Given the description of an element on the screen output the (x, y) to click on. 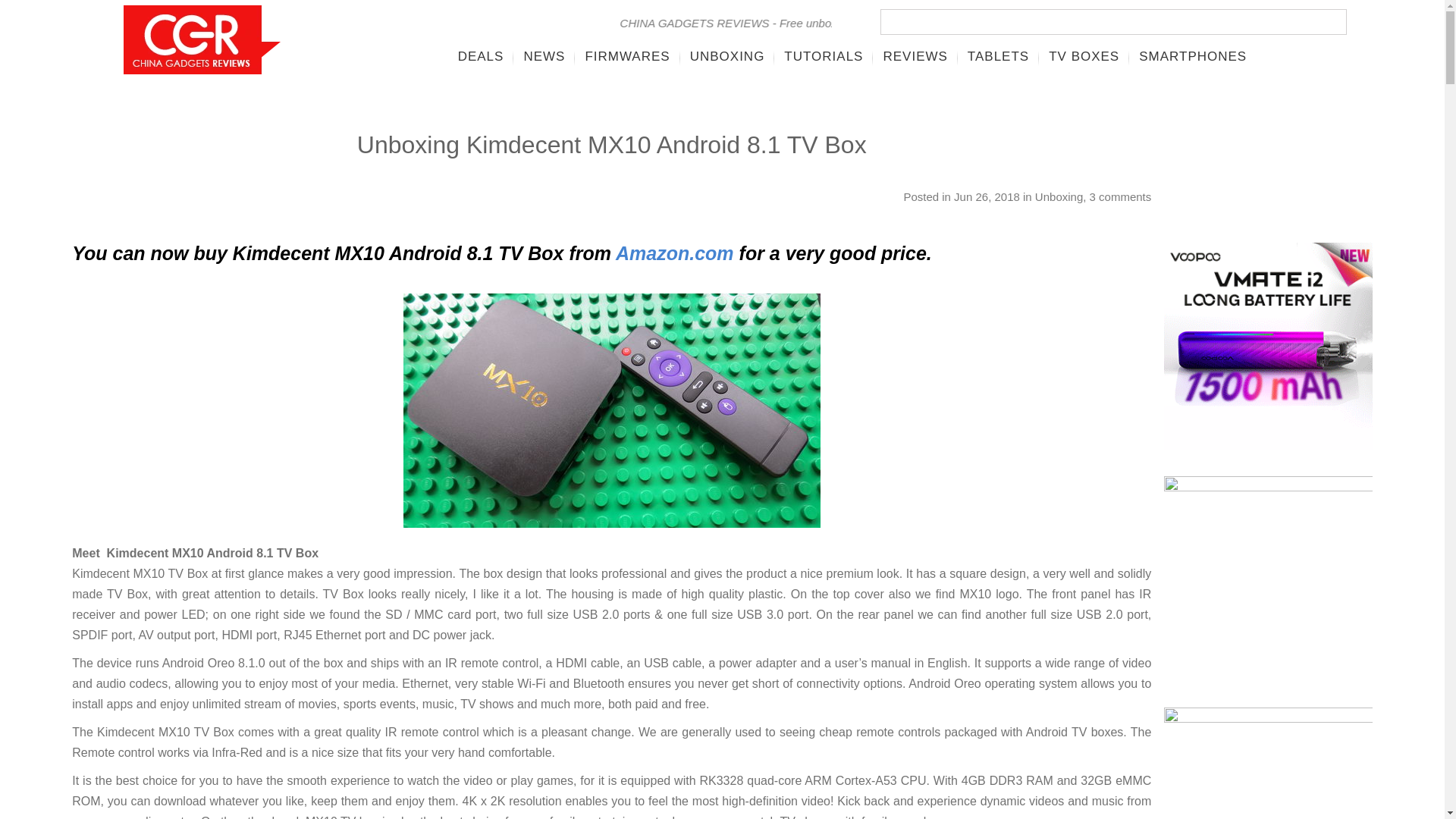
DEALS (480, 56)
TABLETS (998, 56)
TUTORIALS (823, 56)
Unboxing (1059, 196)
UNBOXING (726, 56)
TV BOXES (1084, 56)
NEWS (544, 56)
REVIEWS (914, 56)
Amazon.com (674, 252)
FIRMWARES (627, 56)
